Given the description of an element on the screen output the (x, y) to click on. 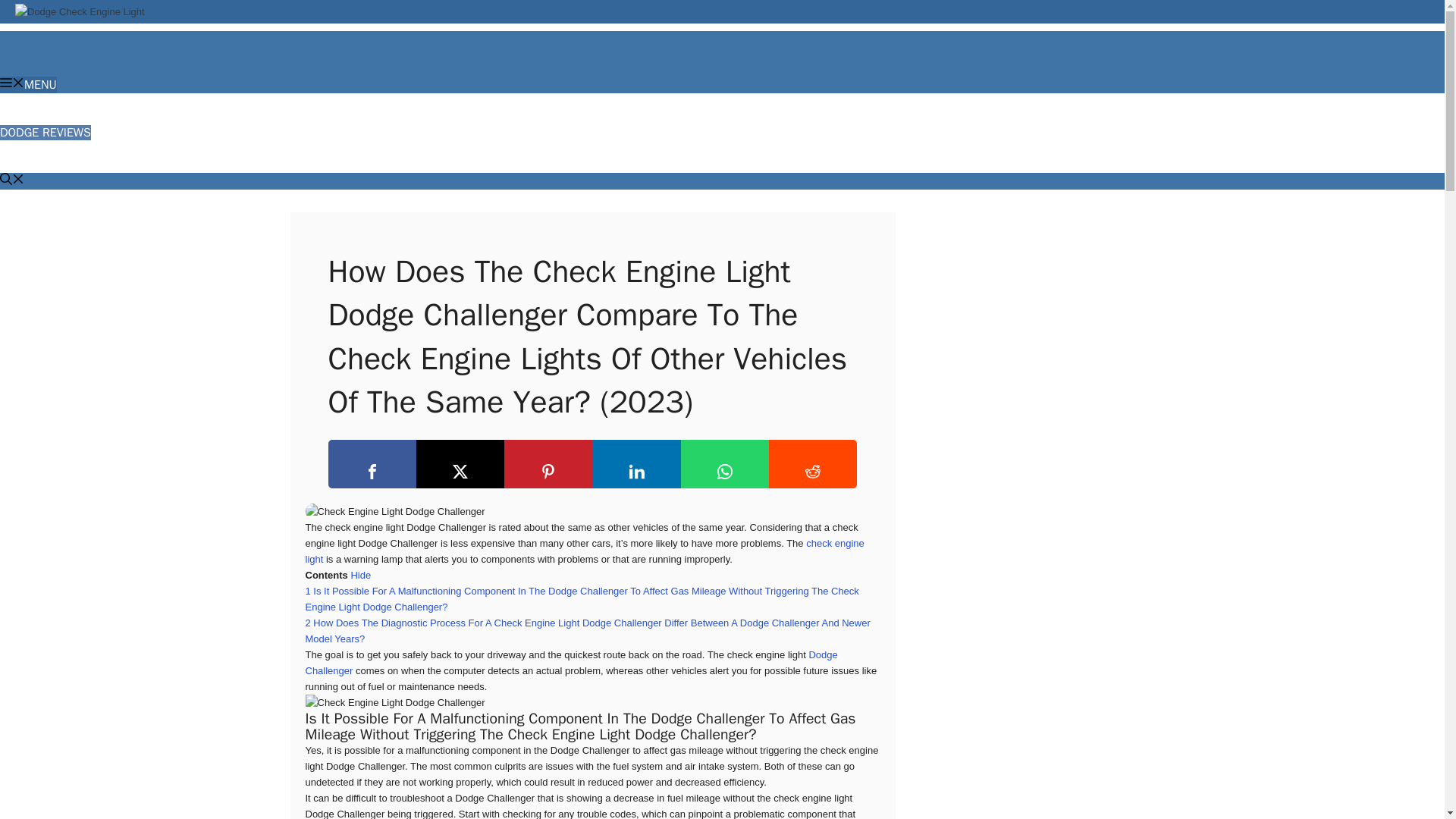
Dodge Challenger (570, 662)
VINTAGE DODGES (48, 148)
HOME (16, 100)
CHECK ENGINE TIPS (54, 164)
DIY DODGE REPAIRS (55, 116)
Hide (360, 574)
DODGE REVIEWS (45, 132)
check engine light (583, 551)
MENU (28, 84)
